Given the description of an element on the screen output the (x, y) to click on. 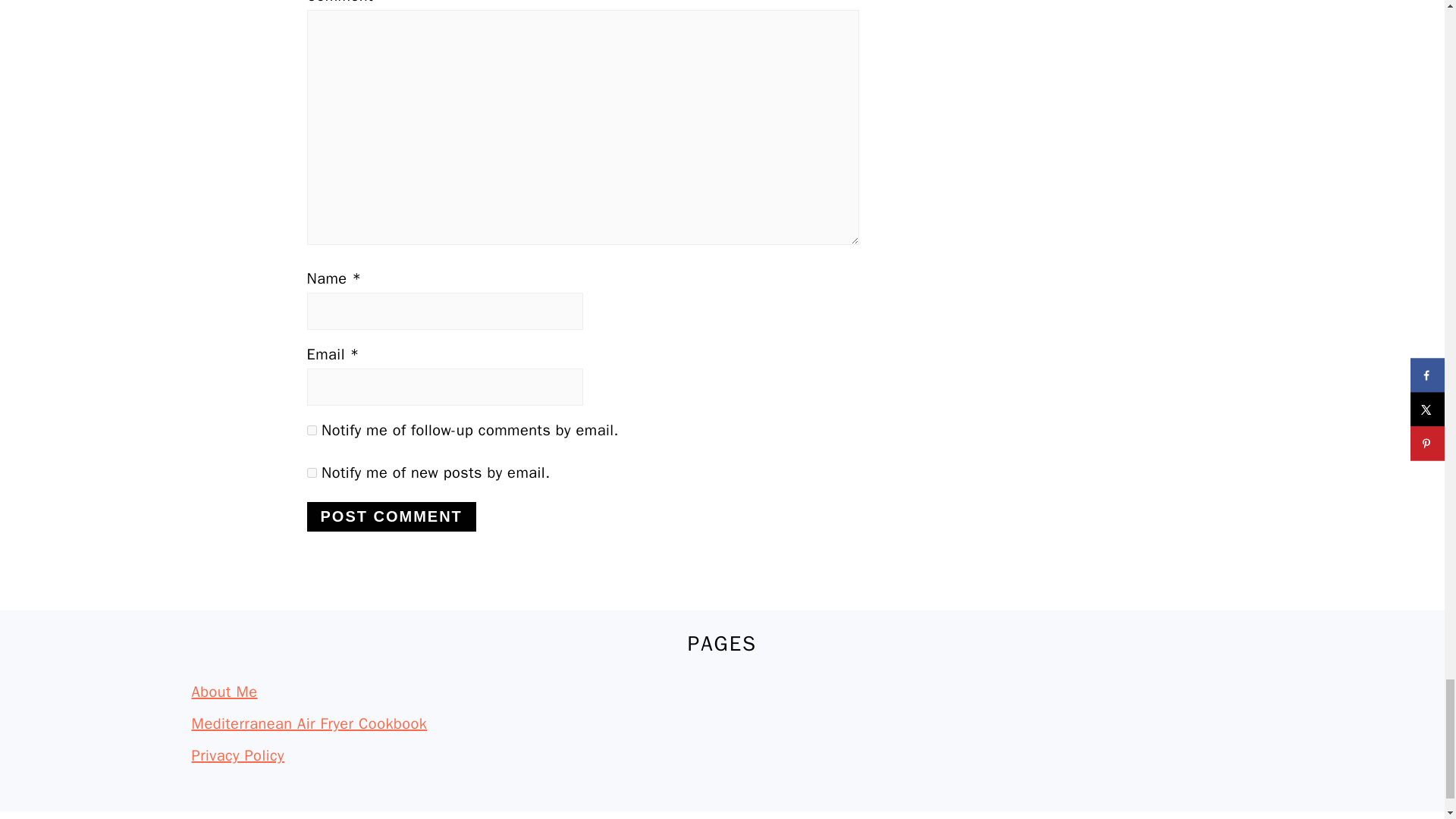
subscribe (310, 472)
Post Comment (390, 516)
subscribe (310, 429)
